Given the description of an element on the screen output the (x, y) to click on. 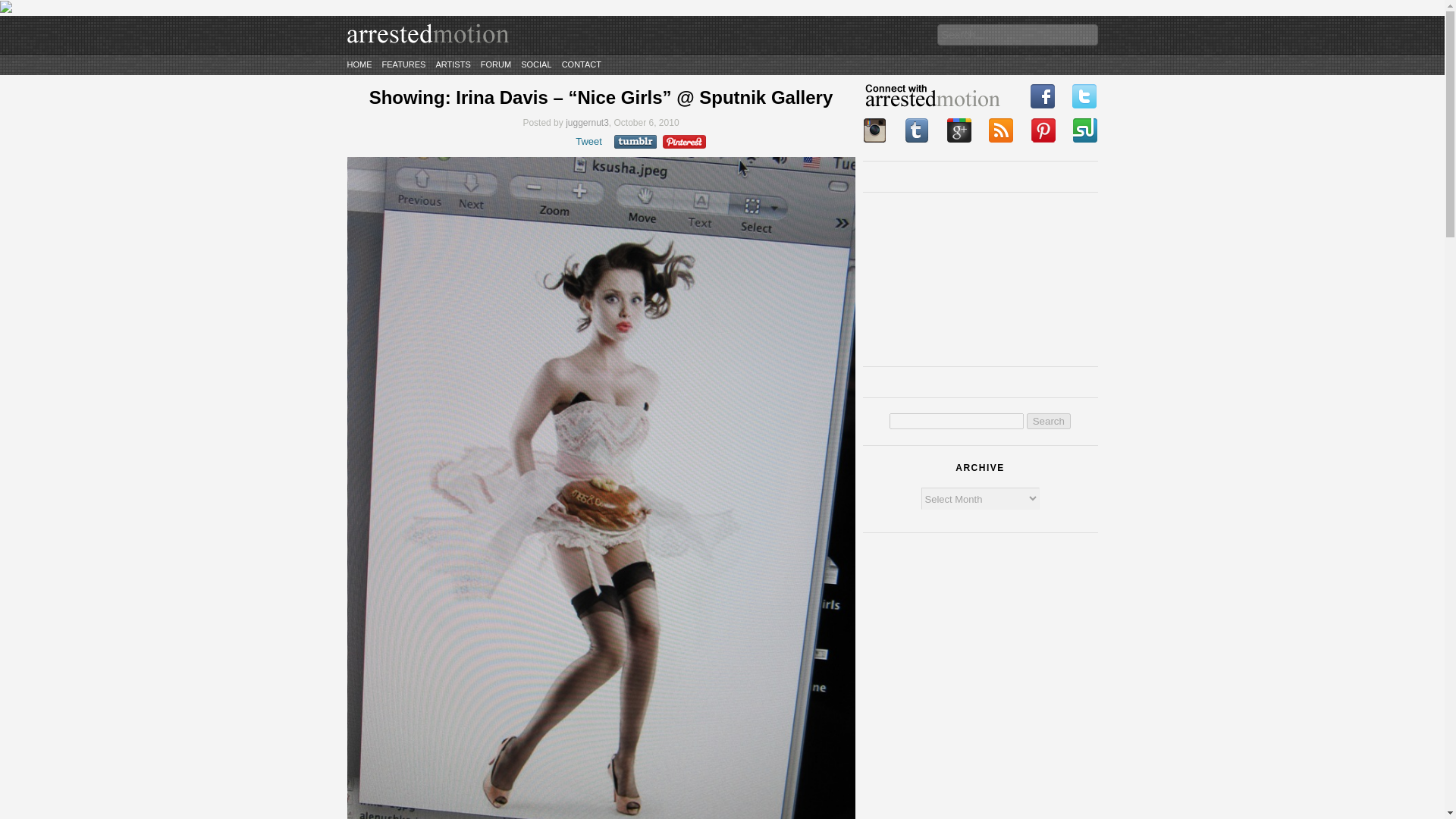
Search (1048, 421)
juggernut3 (587, 122)
HOME (359, 63)
CONTACT (581, 63)
SOCIAL (536, 63)
FORUM (495, 63)
FEATURES (403, 63)
ARTISTS (452, 63)
Tweet (588, 141)
